Given the description of an element on the screen output the (x, y) to click on. 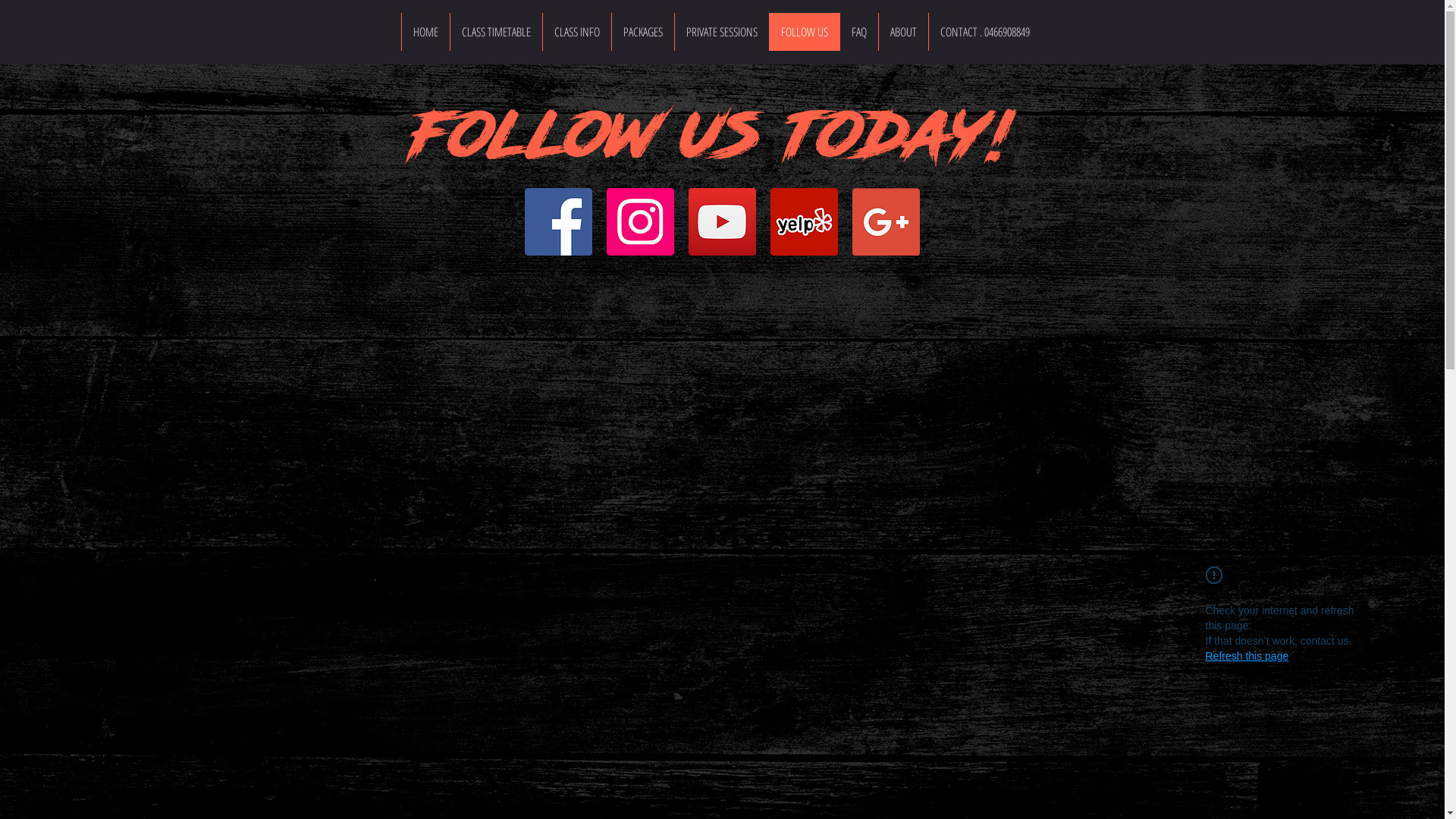
Instagram Feeds Element type: hover (722, 435)
FOLLOW US Element type: text (803, 31)
ABOUT Element type: text (903, 31)
PRIVATE SESSIONS Element type: text (720, 31)
CLASS TIMETABLE Element type: text (494, 31)
FAQ Element type: text (857, 31)
Refresh this page Element type: text (1247, 655)
HOME Element type: text (424, 31)
CLASS INFO Element type: text (575, 31)
PACKAGES Element type: text (642, 31)
CONTACT . 0466908849 Element type: text (984, 31)
